Given the description of an element on the screen output the (x, y) to click on. 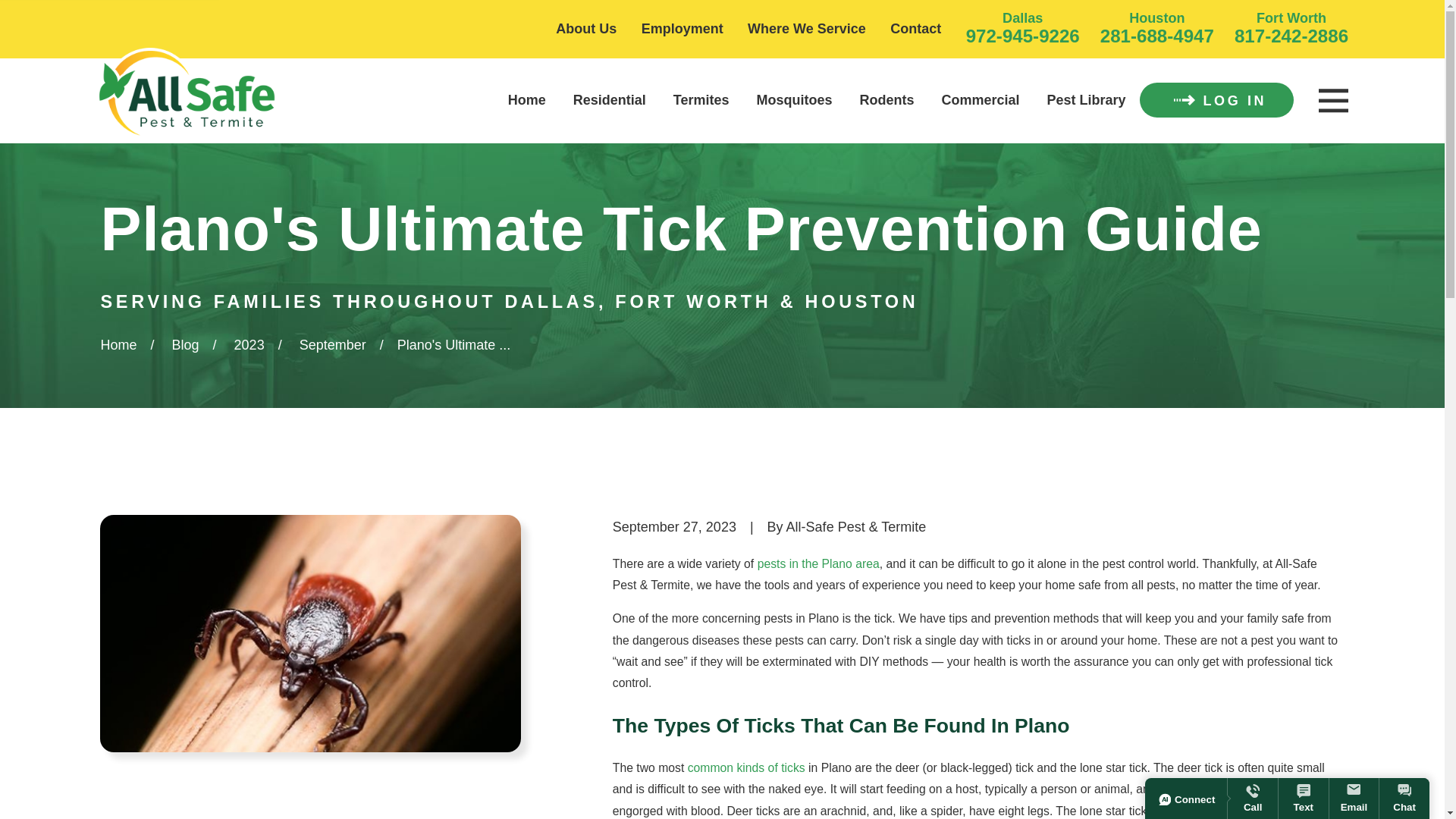
Where We Service (807, 28)
972-945-9226 (1023, 35)
Contact (914, 28)
281-688-4947 (1157, 35)
Go Home (118, 344)
Termites (700, 99)
Commercial (981, 99)
Pest Library (1085, 99)
817-242-2886 (1291, 35)
Main Menu (1332, 100)
